Given the description of an element on the screen output the (x, y) to click on. 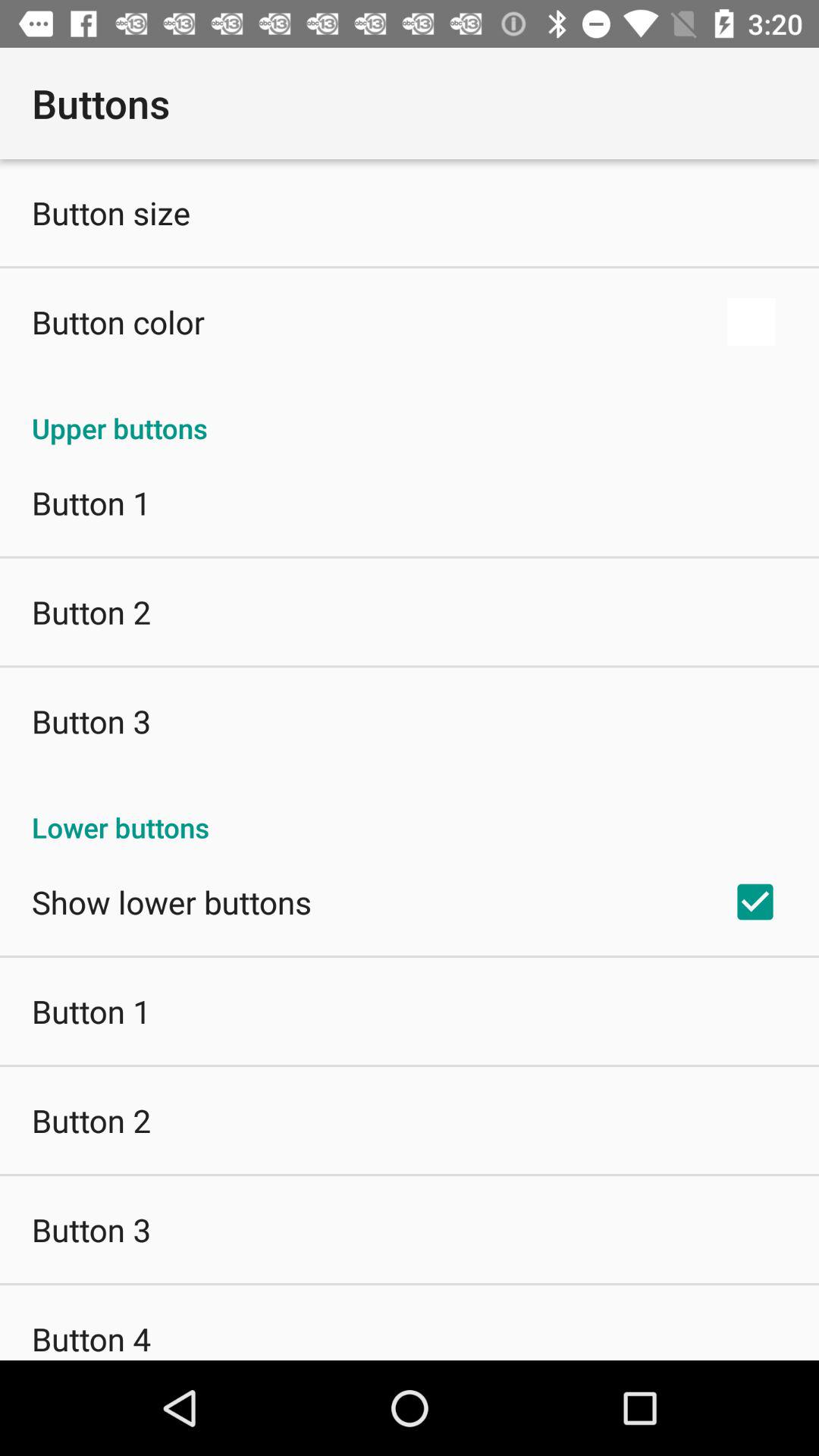
turn on button 4 item (90, 1338)
